Given the description of an element on the screen output the (x, y) to click on. 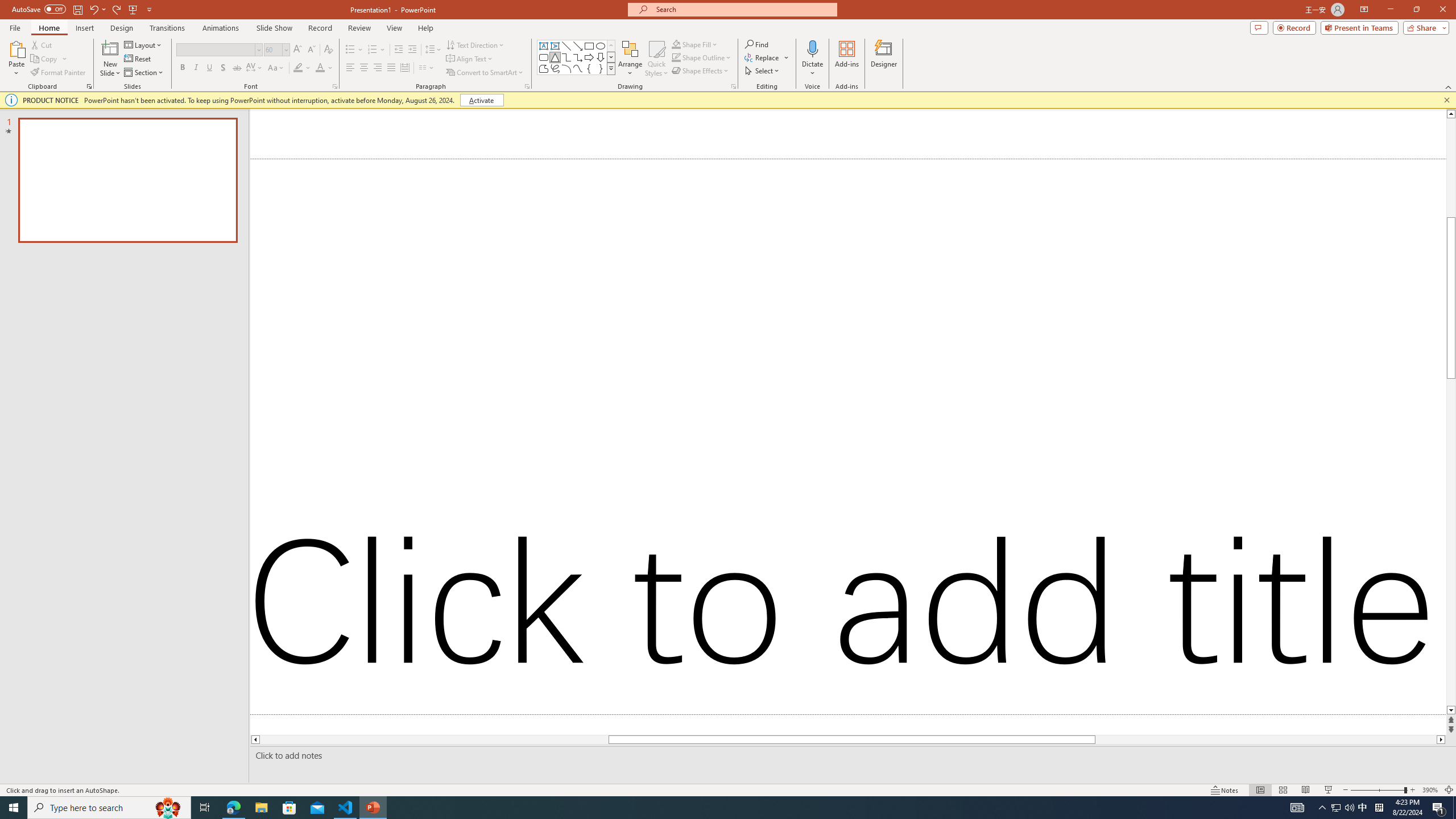
Copy (45, 58)
Font (215, 49)
Shape Fill (694, 44)
Font Color (324, 67)
Open (285, 49)
Freeform: Scribble (554, 68)
Line (566, 45)
Microsoft search (742, 9)
Row Down (611, 56)
Font Size (276, 49)
